Given the description of an element on the screen output the (x, y) to click on. 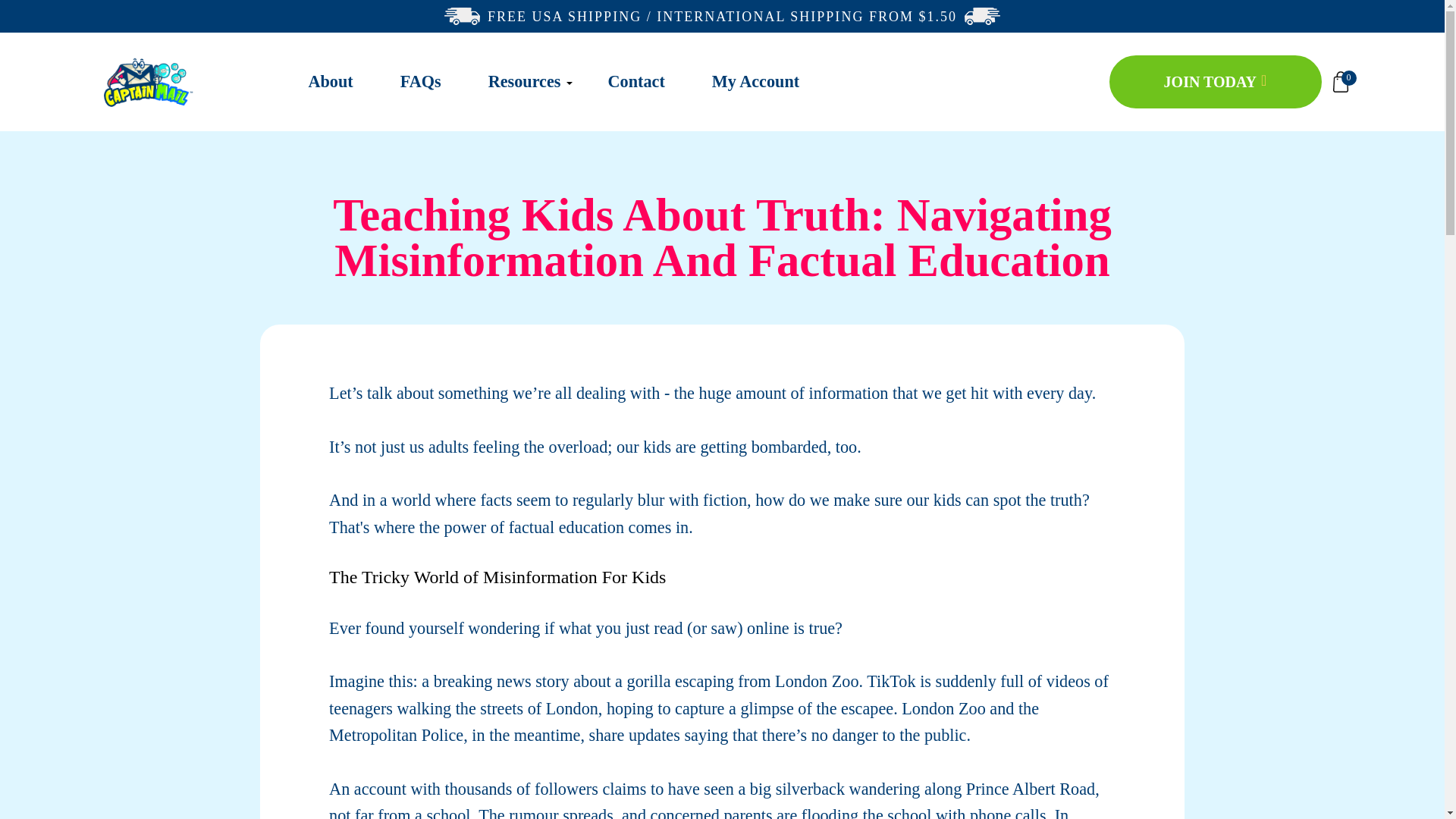
Contact (636, 87)
My Account (755, 87)
0 (1339, 81)
About (329, 87)
Resources (523, 87)
FAQs (420, 87)
